Given the description of an element on the screen output the (x, y) to click on. 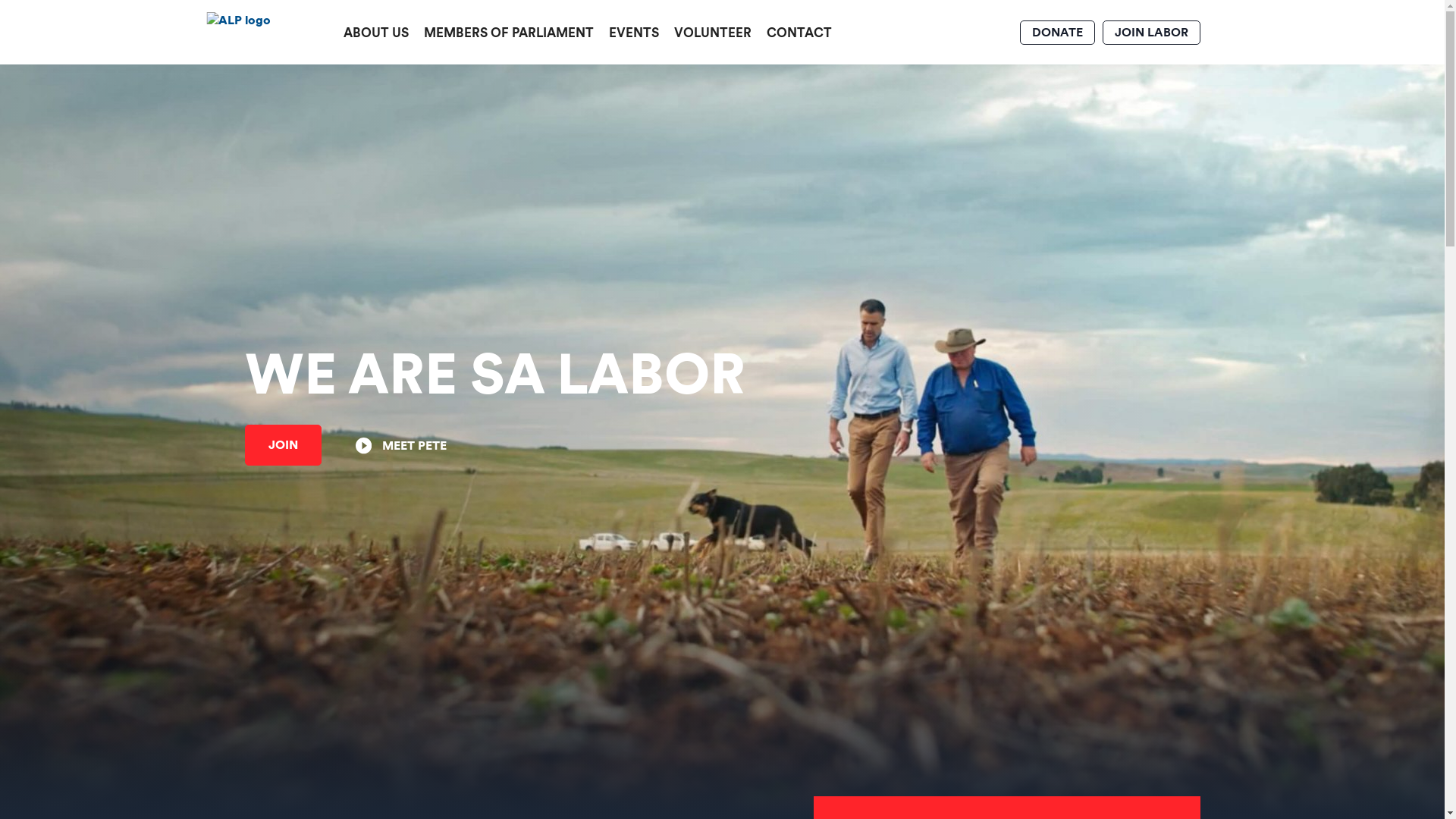
MEET PETE Element type: text (400, 445)
JOIN Element type: text (282, 444)
DONATE Element type: text (1056, 31)
VOLUNTEER Element type: text (711, 31)
JOIN LABOR Element type: text (1151, 31)
ABOUT US Element type: text (375, 31)
MEMBERS OF PARLIAMENT Element type: text (507, 31)
CONTACT Element type: text (798, 31)
EVENTS Element type: text (632, 31)
